Given the description of an element on the screen output the (x, y) to click on. 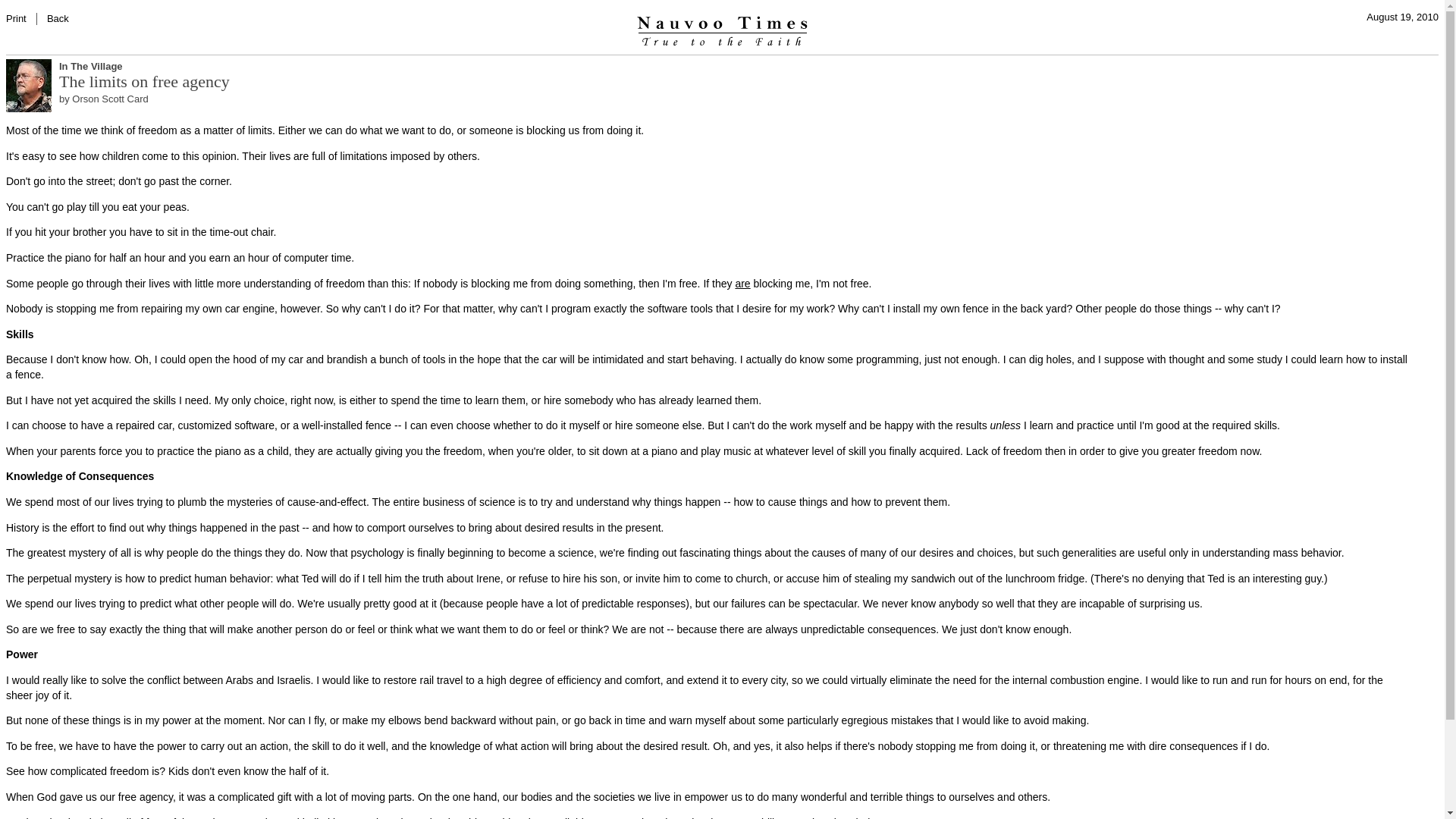
Back (57, 18)
Print (15, 18)
